Given the description of an element on the screen output the (x, y) to click on. 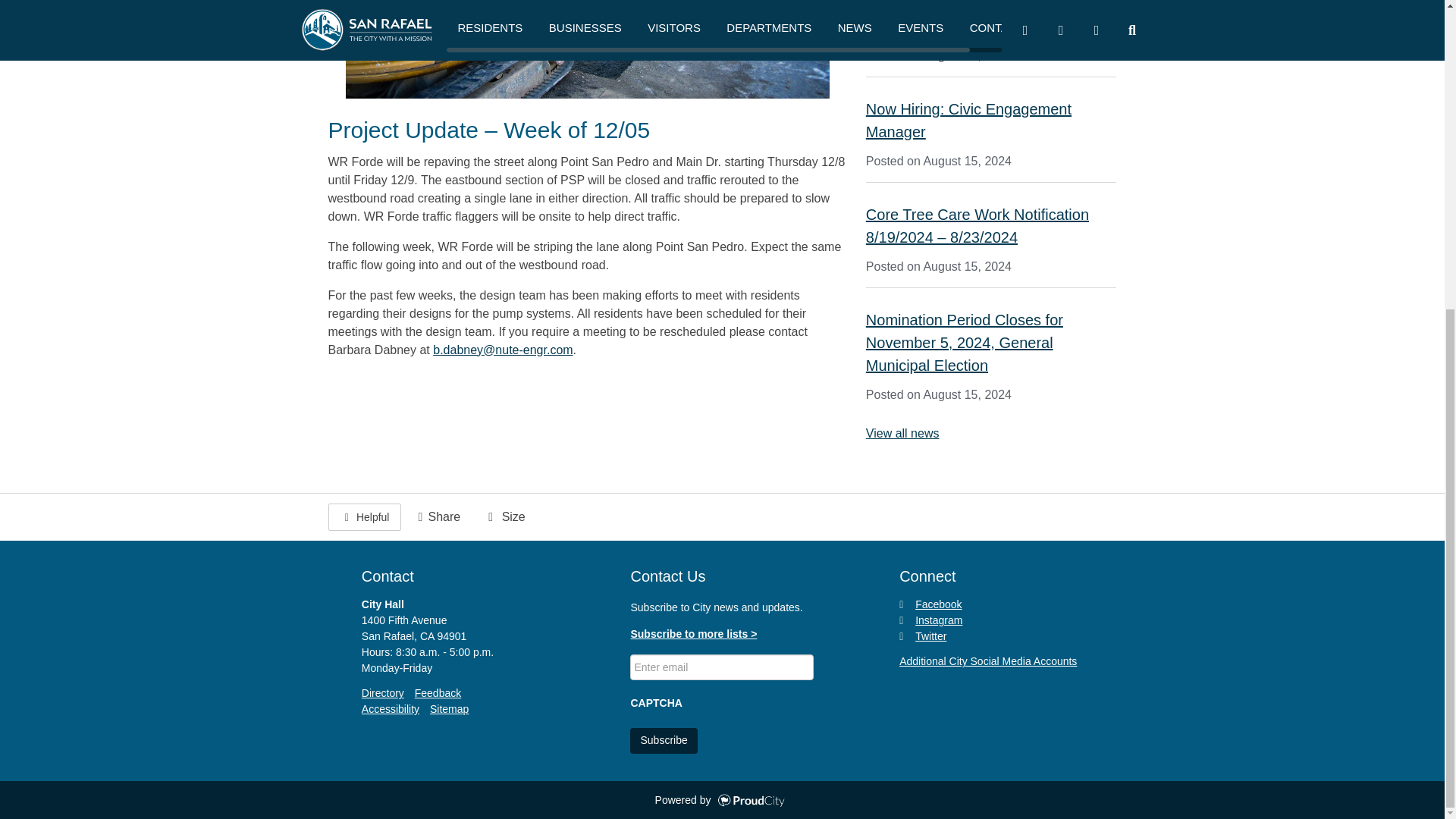
Helpful (364, 516)
This page makes me proud (364, 516)
Directory (382, 693)
View all news (902, 432)
Share (436, 516)
Size (504, 516)
Accessibility (390, 708)
Feedback (437, 693)
Now Hiring: Civic Engagement Manager (968, 120)
